Given the description of an element on the screen output the (x, y) to click on. 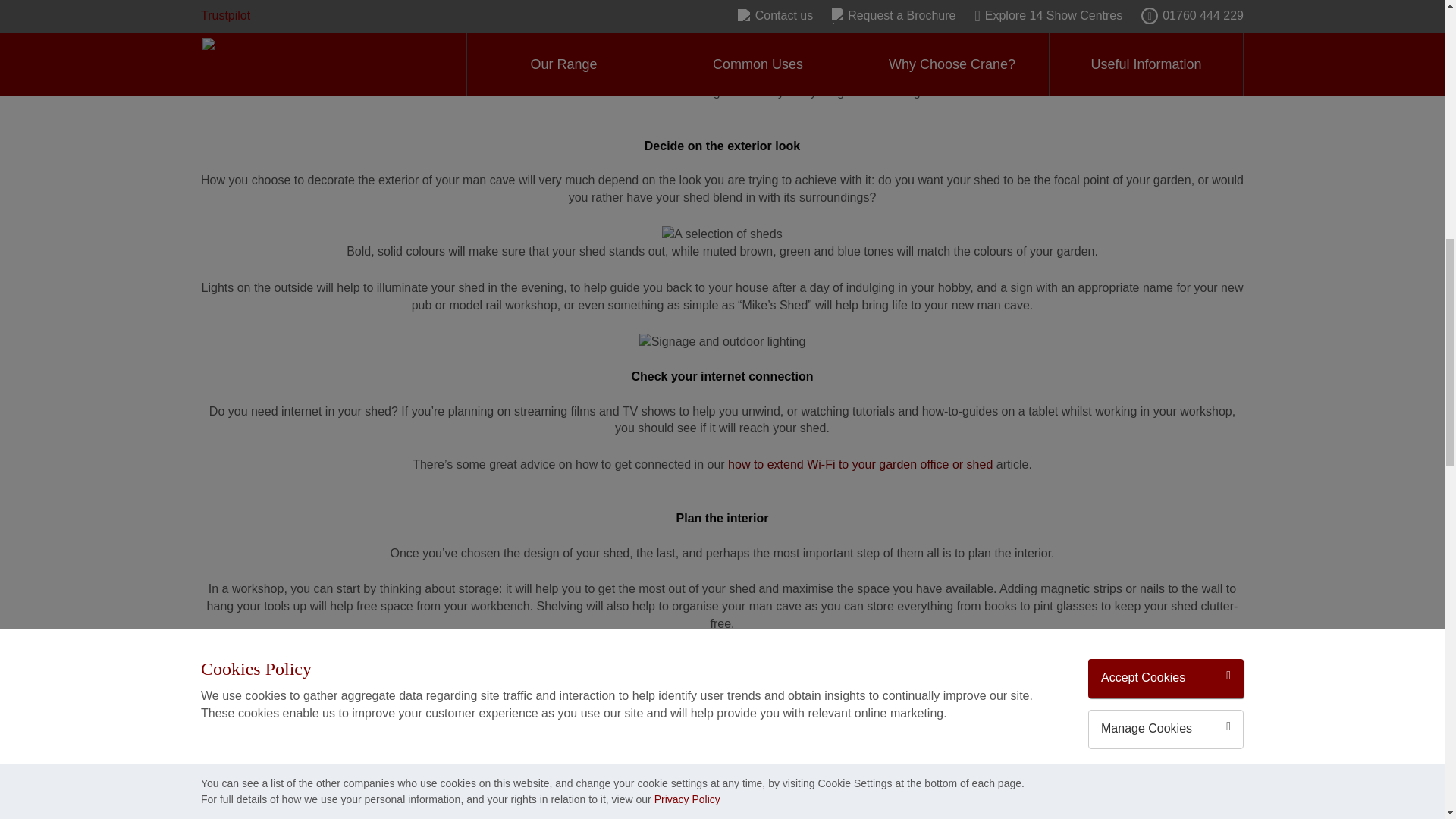
Signage and outdoor lighting (722, 342)
Model plane and tool workshop set up (722, 660)
A selection of sheds (721, 234)
Lighting and electrics features (721, 21)
